Given the description of an element on the screen output the (x, y) to click on. 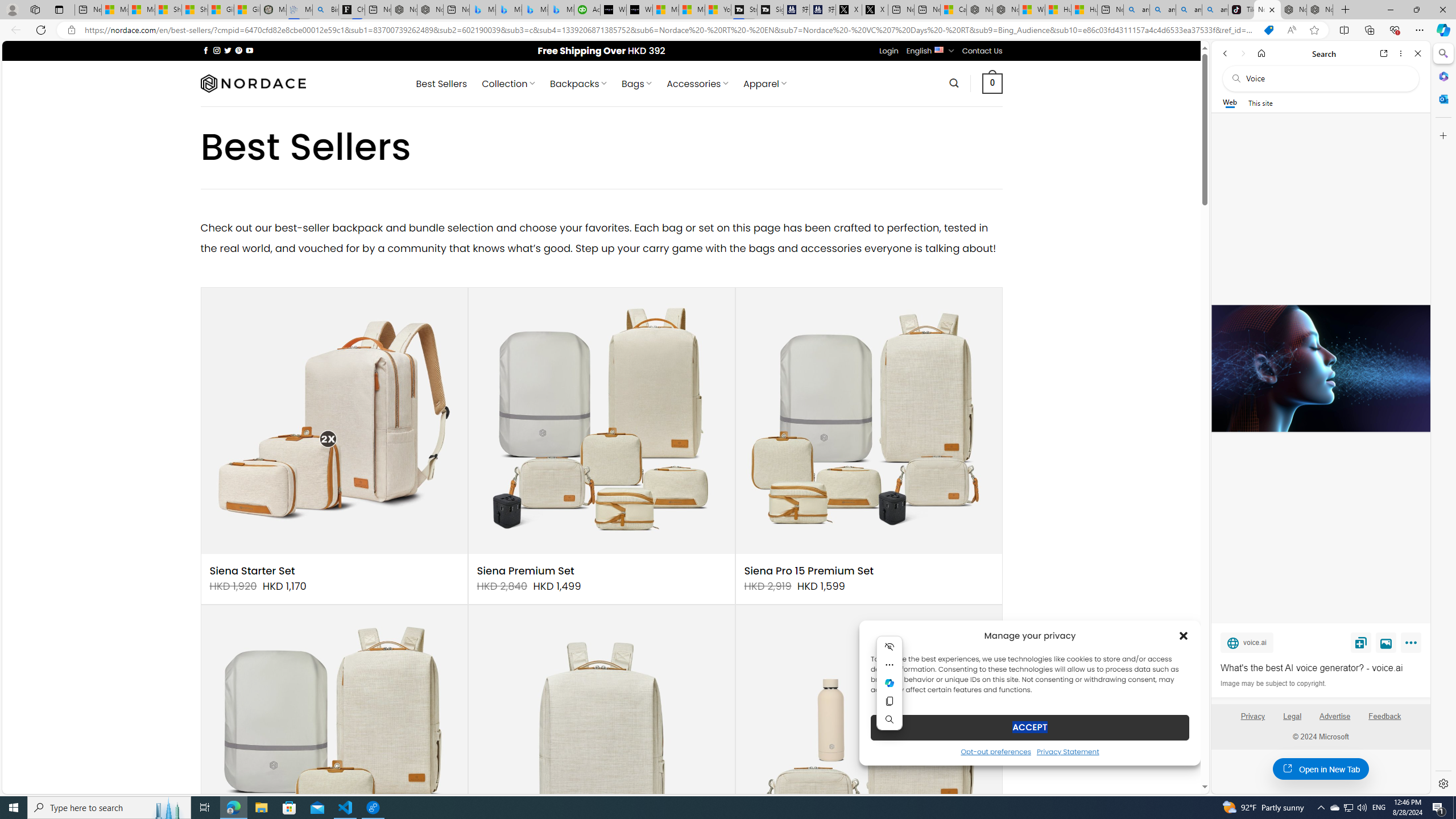
Manatee Mortality Statistics | FWC (272, 9)
Legal (1291, 715)
Legal (1292, 720)
  0   (992, 83)
